Given the description of an element on the screen output the (x, y) to click on. 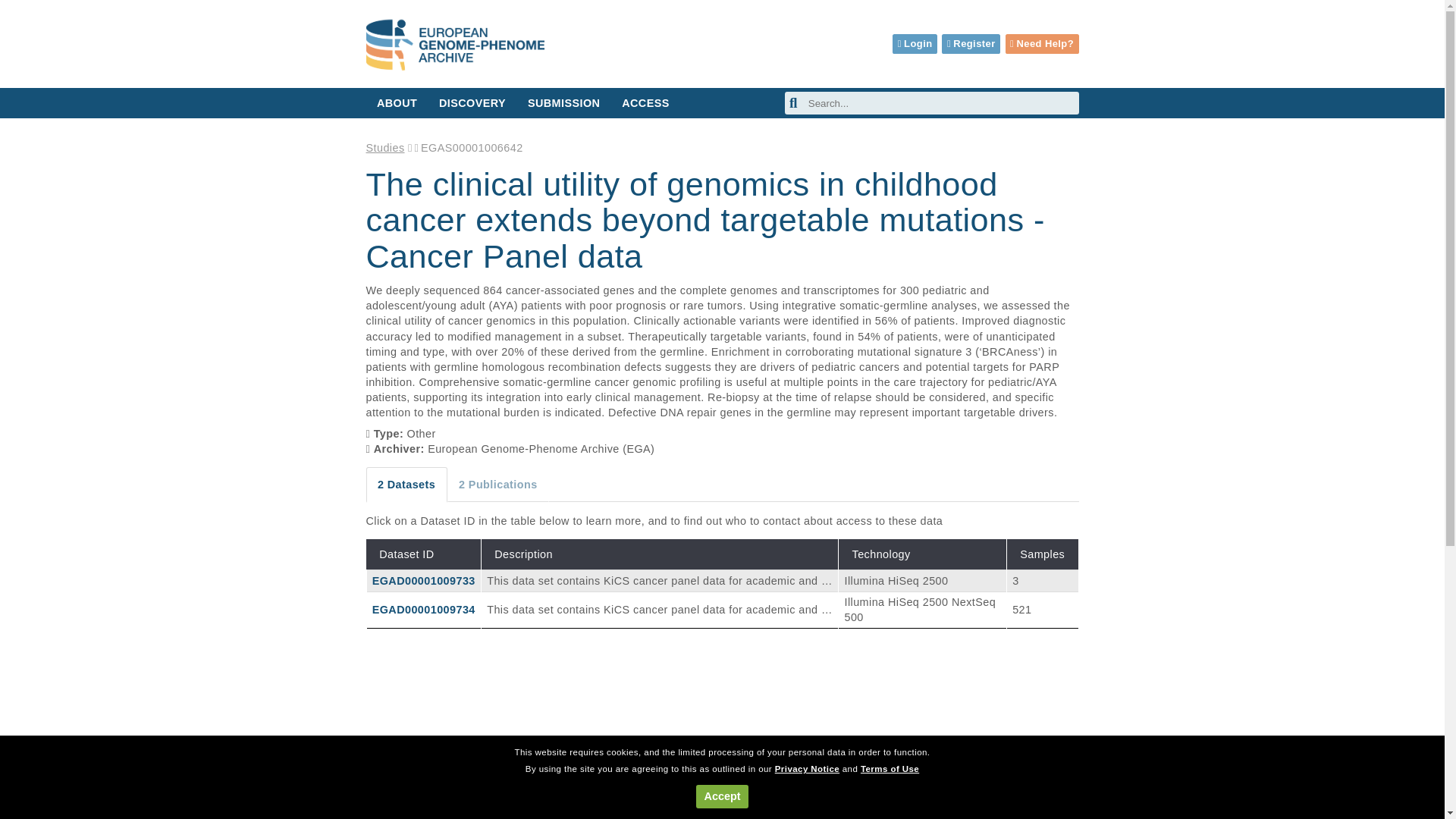
Need Help? (1042, 44)
Login (914, 44)
EGA European Genome-Phenome Archive Logo (454, 44)
Register (971, 44)
